Given the description of an element on the screen output the (x, y) to click on. 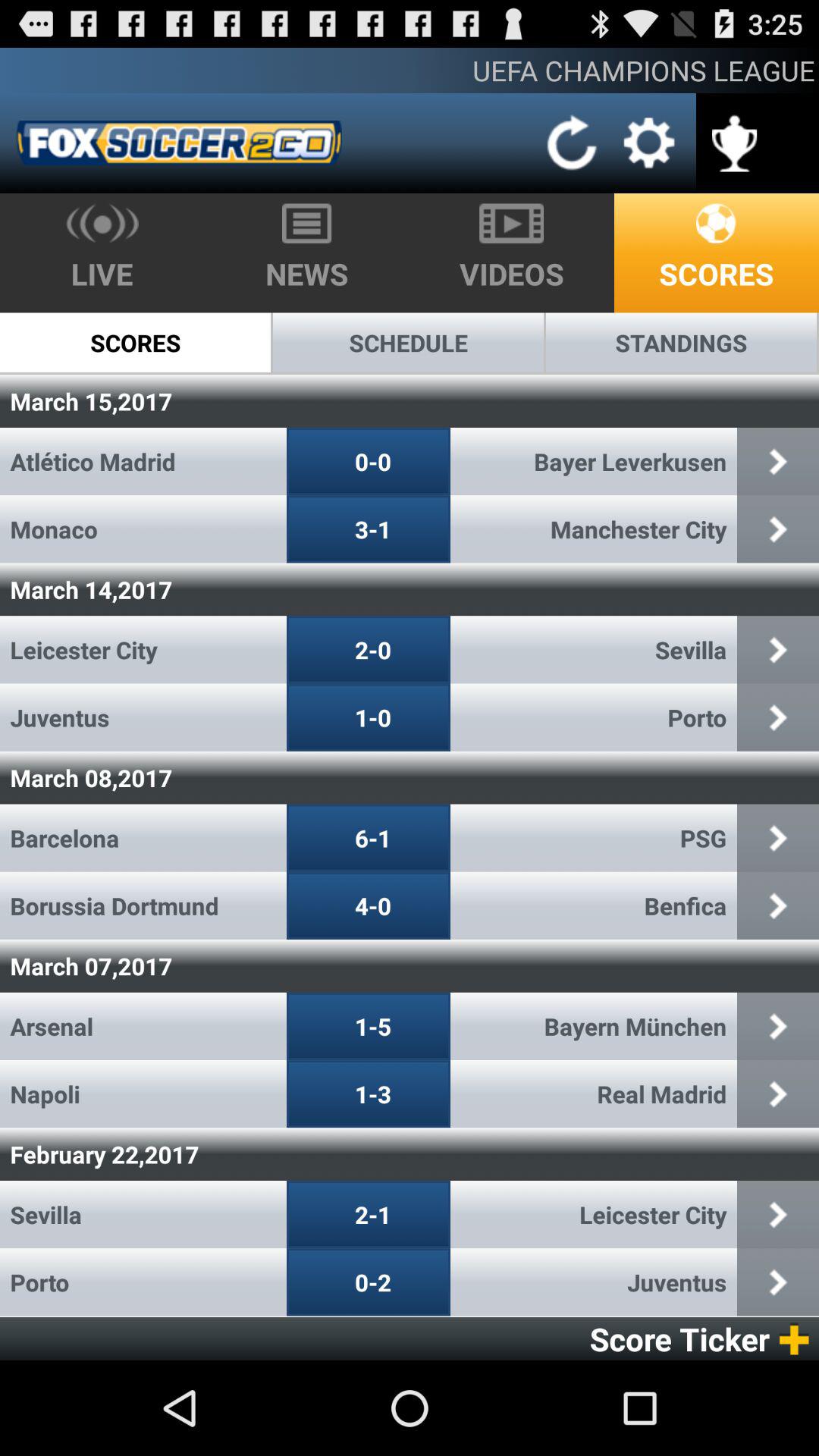
select the text schedule (407, 342)
